Given the description of an element on the screen output the (x, y) to click on. 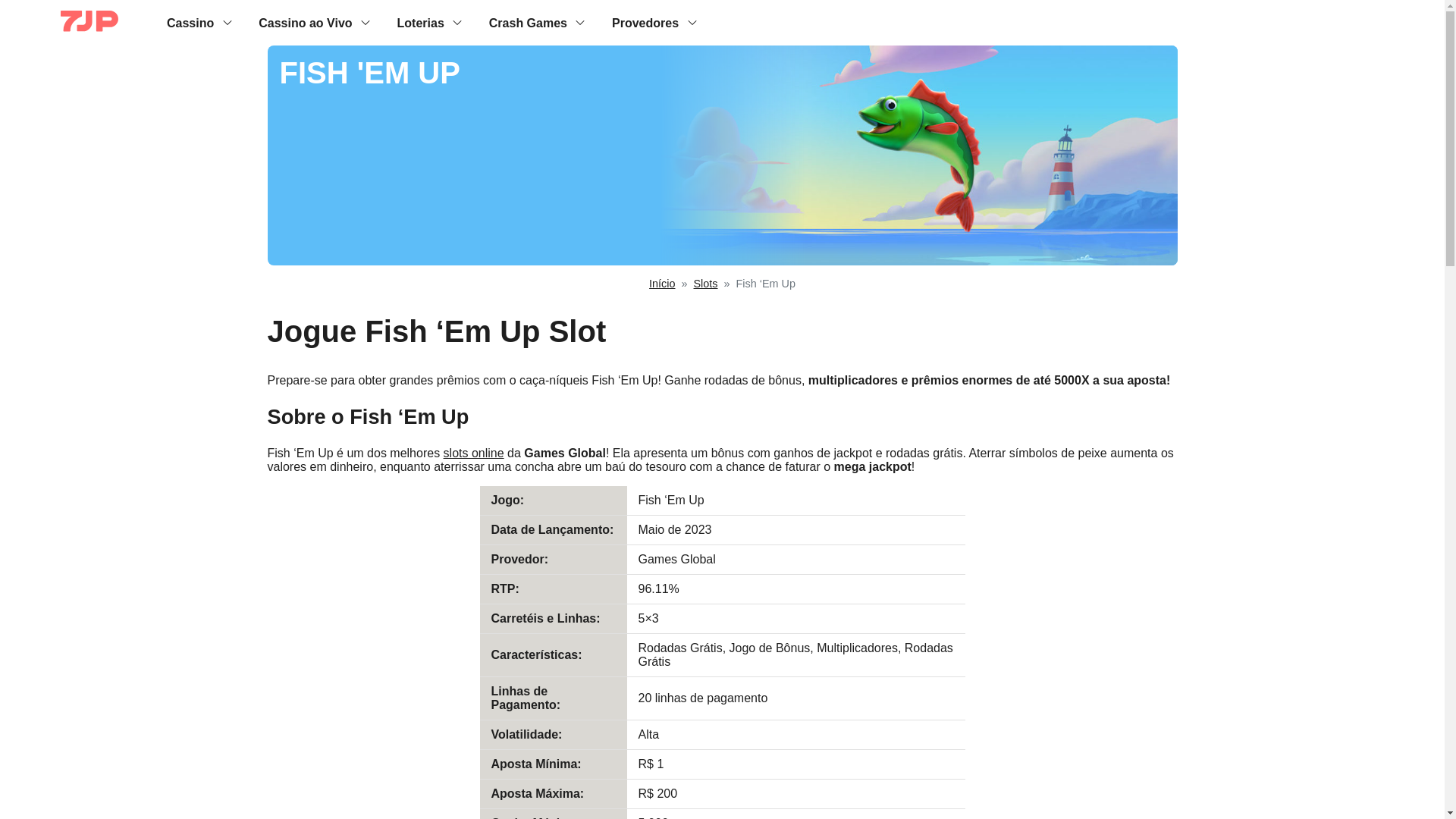
Loterias (420, 22)
Crash Games (528, 22)
Cassino (190, 22)
Cassino ao Vivo (305, 22)
